Given the description of an element on the screen output the (x, y) to click on. 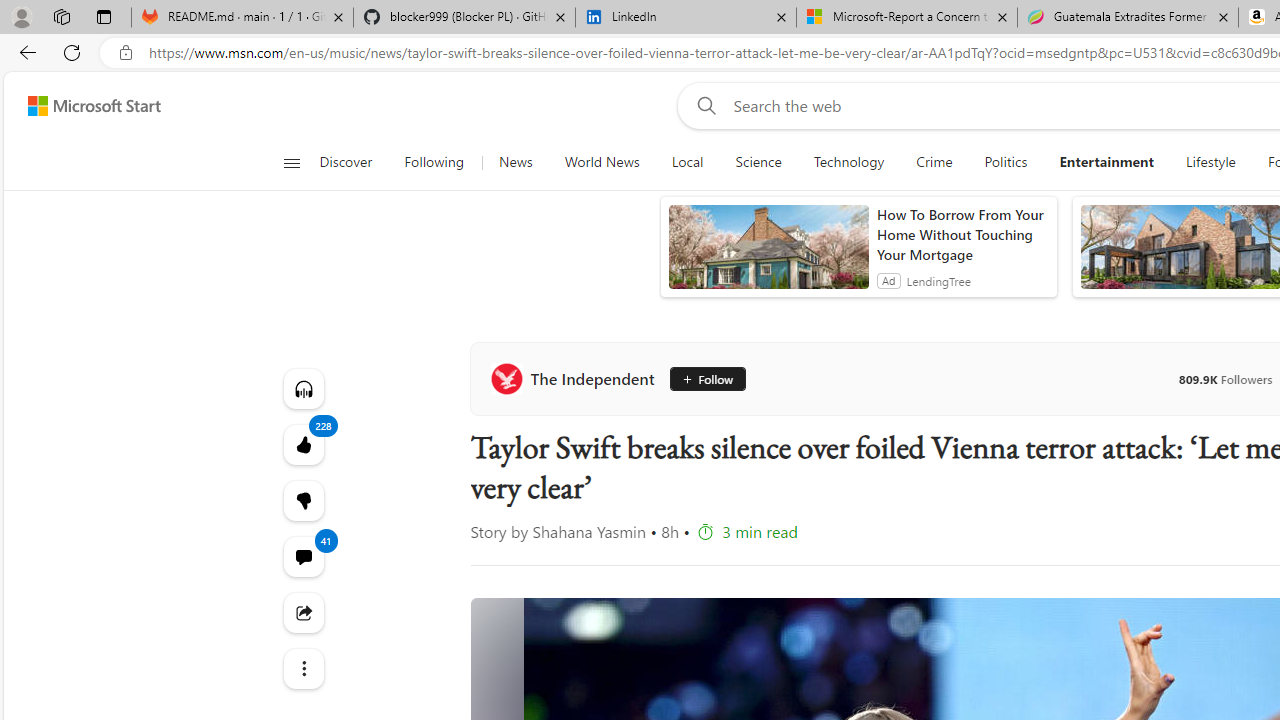
The Independent (576, 378)
